Given the description of an element on the screen output the (x, y) to click on. 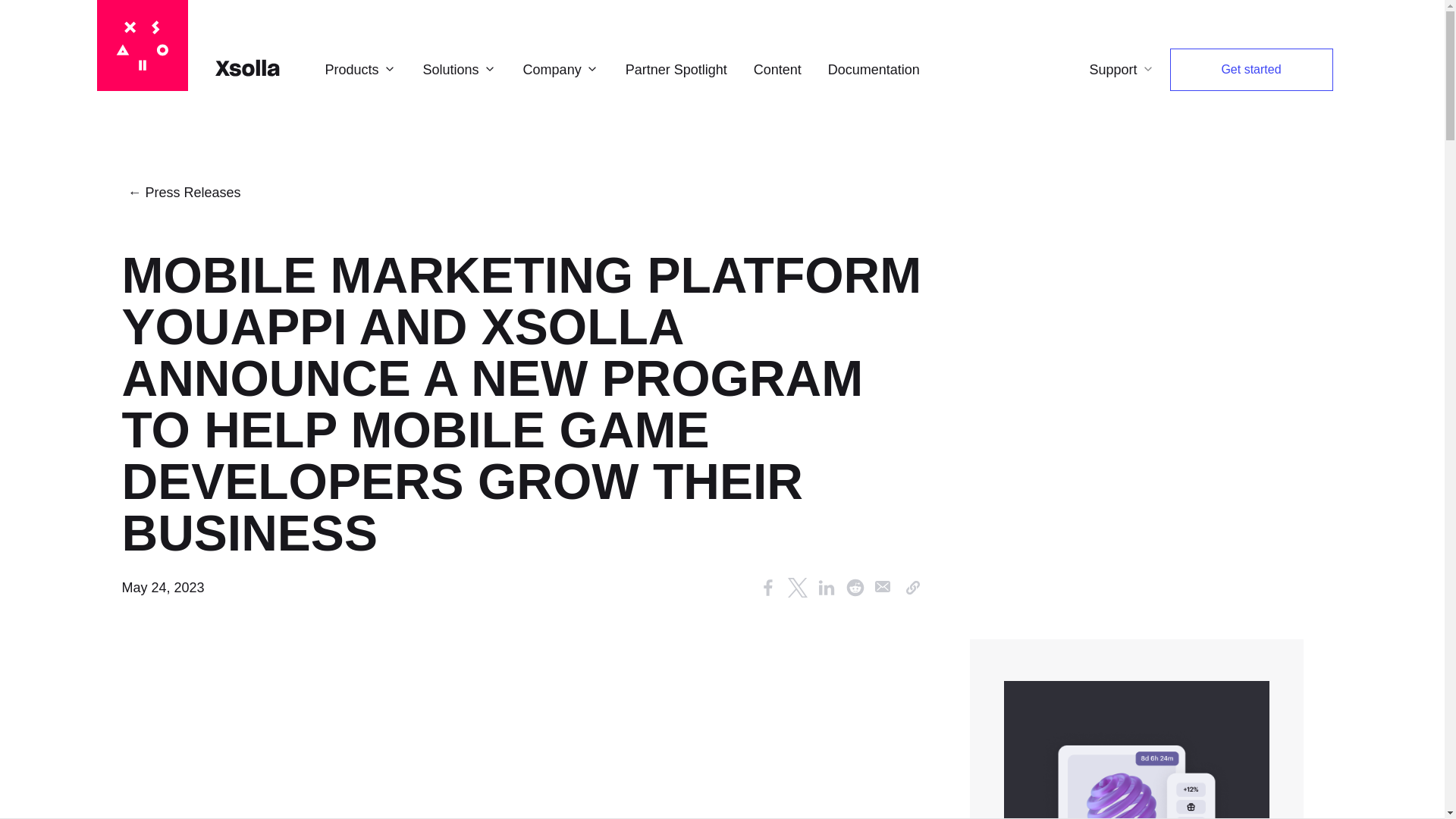
Content (778, 69)
Partner Spotlight (676, 69)
Documentation (874, 69)
